Given the description of an element on the screen output the (x, y) to click on. 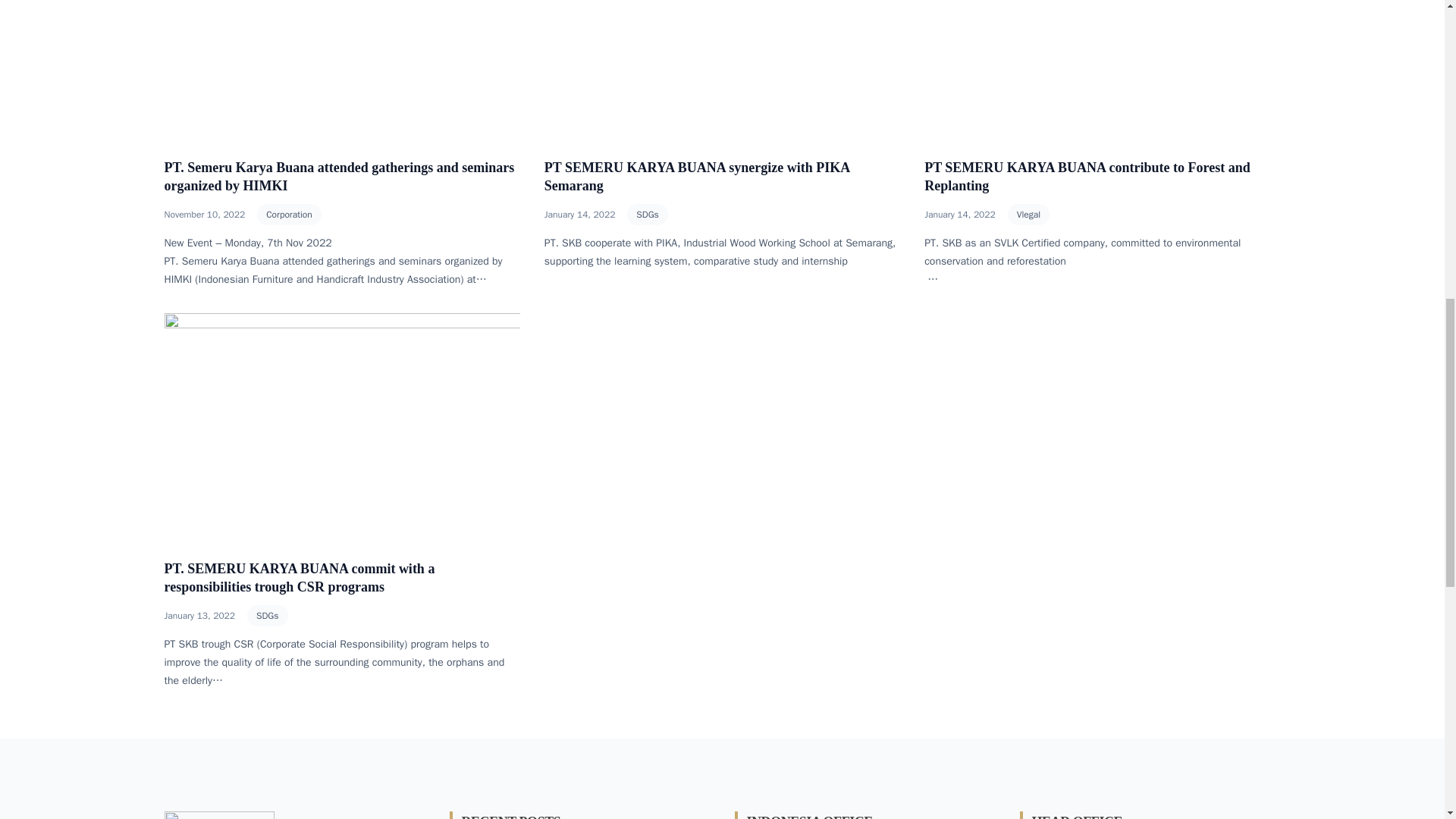
November 10, 2022 (203, 214)
PT SEMERU KARYA BUANA synergize with PIKA Semarang (696, 176)
Corporation (289, 214)
